Given the description of an element on the screen output the (x, y) to click on. 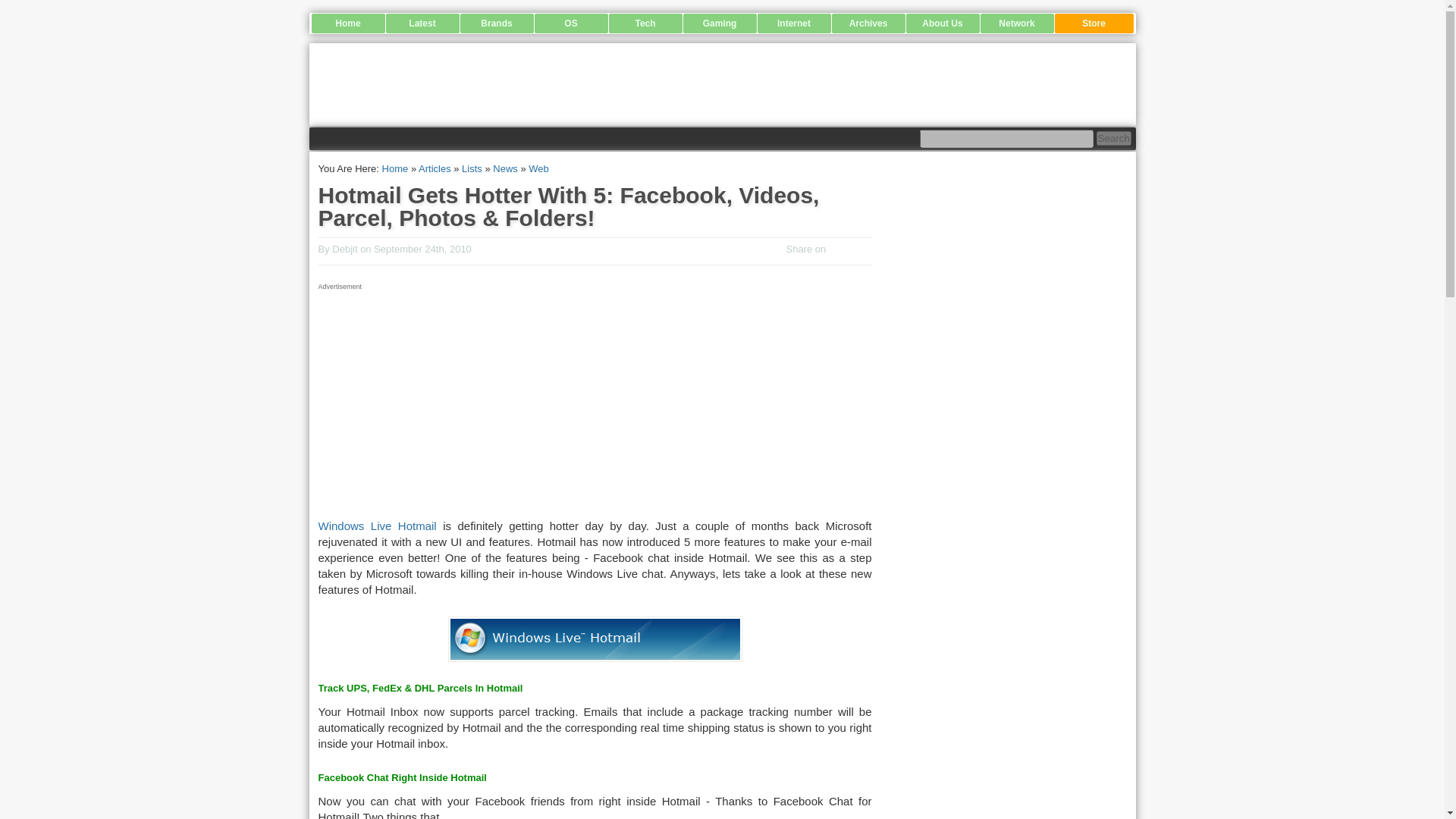
Brands (496, 23)
Digitizor - Your Guide to Everything Technology (724, 84)
Digitizor.com (395, 168)
OS (570, 23)
Windows Live Hotmail (377, 525)
News (505, 168)
Search (1113, 138)
Internet (793, 23)
Web (538, 168)
Gaming (718, 23)
